Given the description of an element on the screen output the (x, y) to click on. 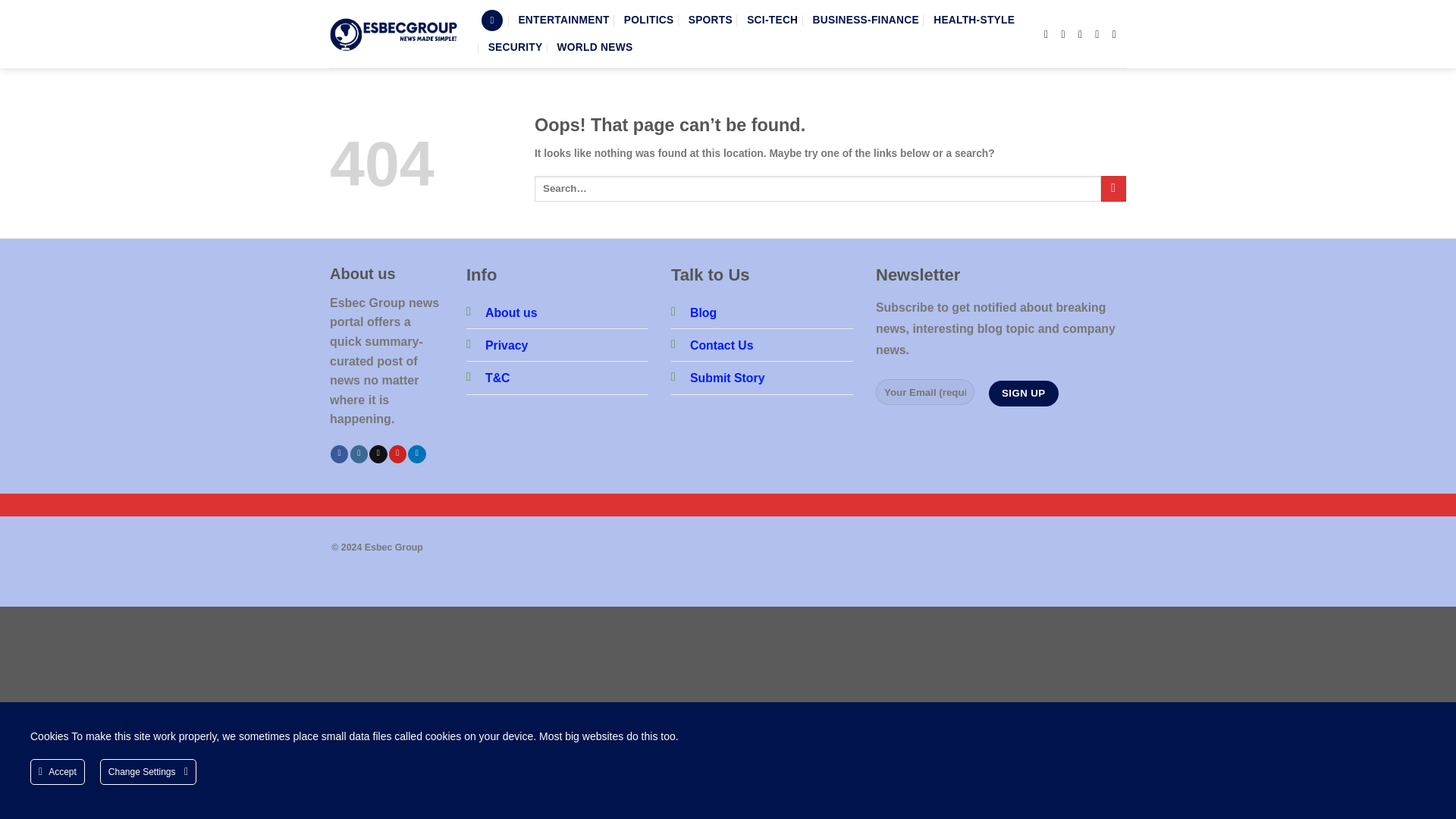
HEALTH-STYLE (973, 20)
Follow on Pinterest (397, 454)
Contact Us (722, 345)
POLITICS (649, 20)
ENTERTAINMENT (563, 20)
Blog (703, 312)
WORLD NEWS (595, 47)
BUSINESS-FINANCE (865, 20)
Privacy (505, 345)
SPORTS (710, 20)
Follow on X (378, 454)
Esbecgroup - News Made Simple (394, 33)
Sign Up (1023, 393)
About us (510, 312)
Submit Story (727, 377)
